Given the description of an element on the screen output the (x, y) to click on. 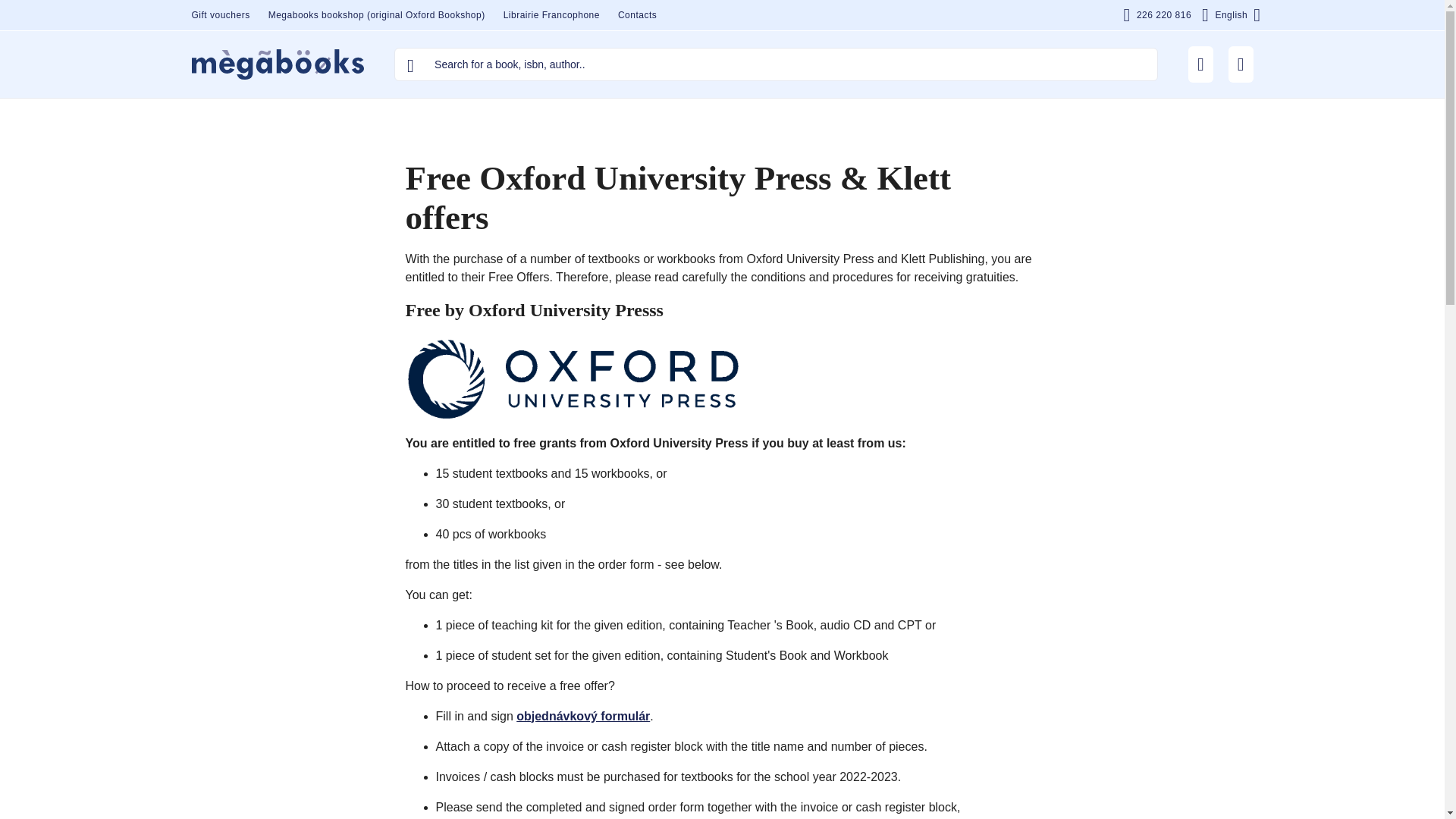
Oxford University Press (571, 377)
226 220 816 (1157, 15)
Contacts (636, 15)
Librairie Francophone (550, 15)
Gift vouchers (220, 15)
Gift vouchers (220, 15)
Librairie Francophone (550, 15)
Contacts (636, 15)
Megabooks (277, 64)
226 220 816 (1157, 15)
